Given the description of an element on the screen output the (x, y) to click on. 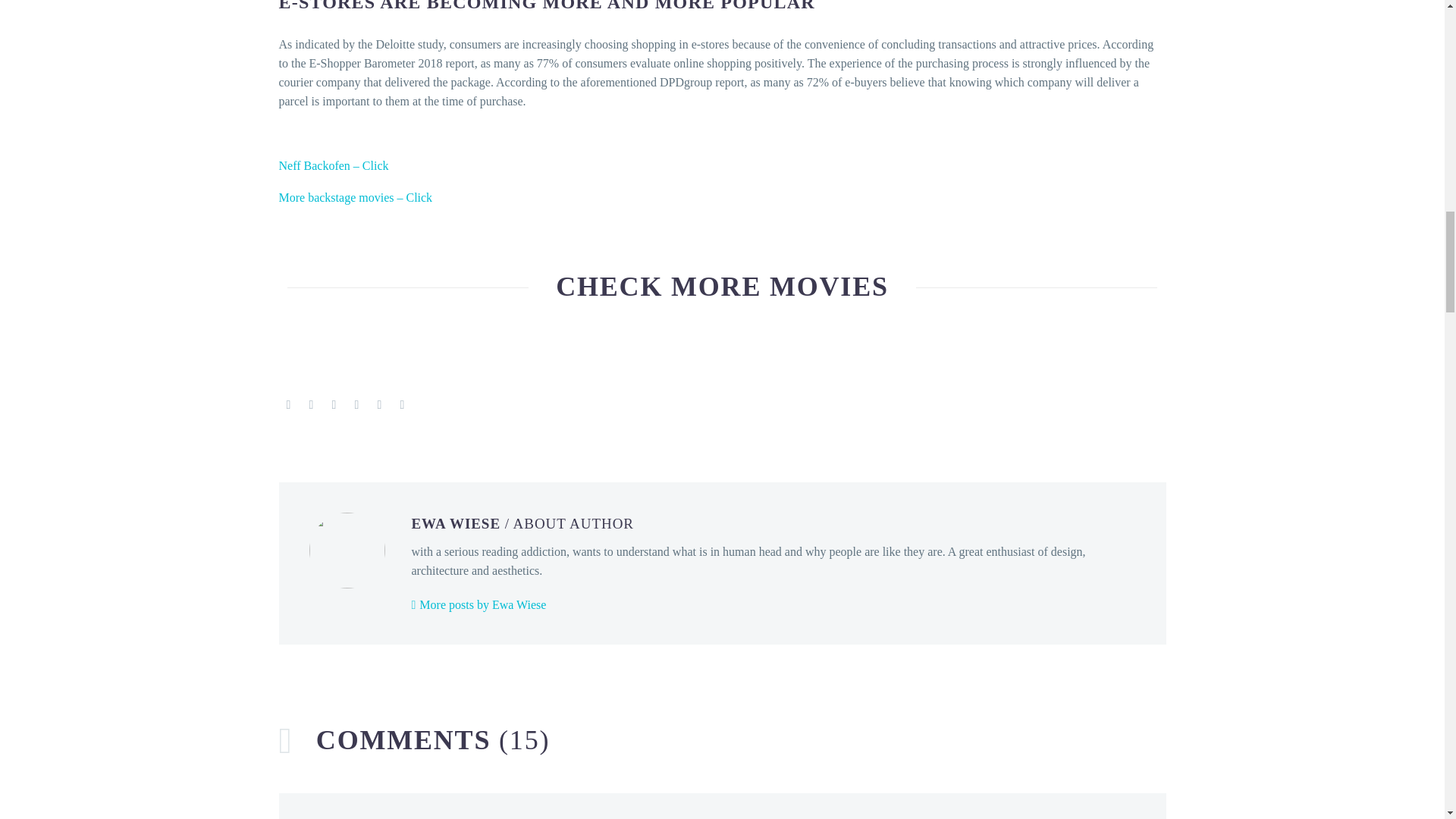
Tumblr (356, 404)
Facebook (288, 404)
LinkedIn (378, 404)
Twitter (310, 404)
Pinterest (333, 404)
